Given the description of an element on the screen output the (x, y) to click on. 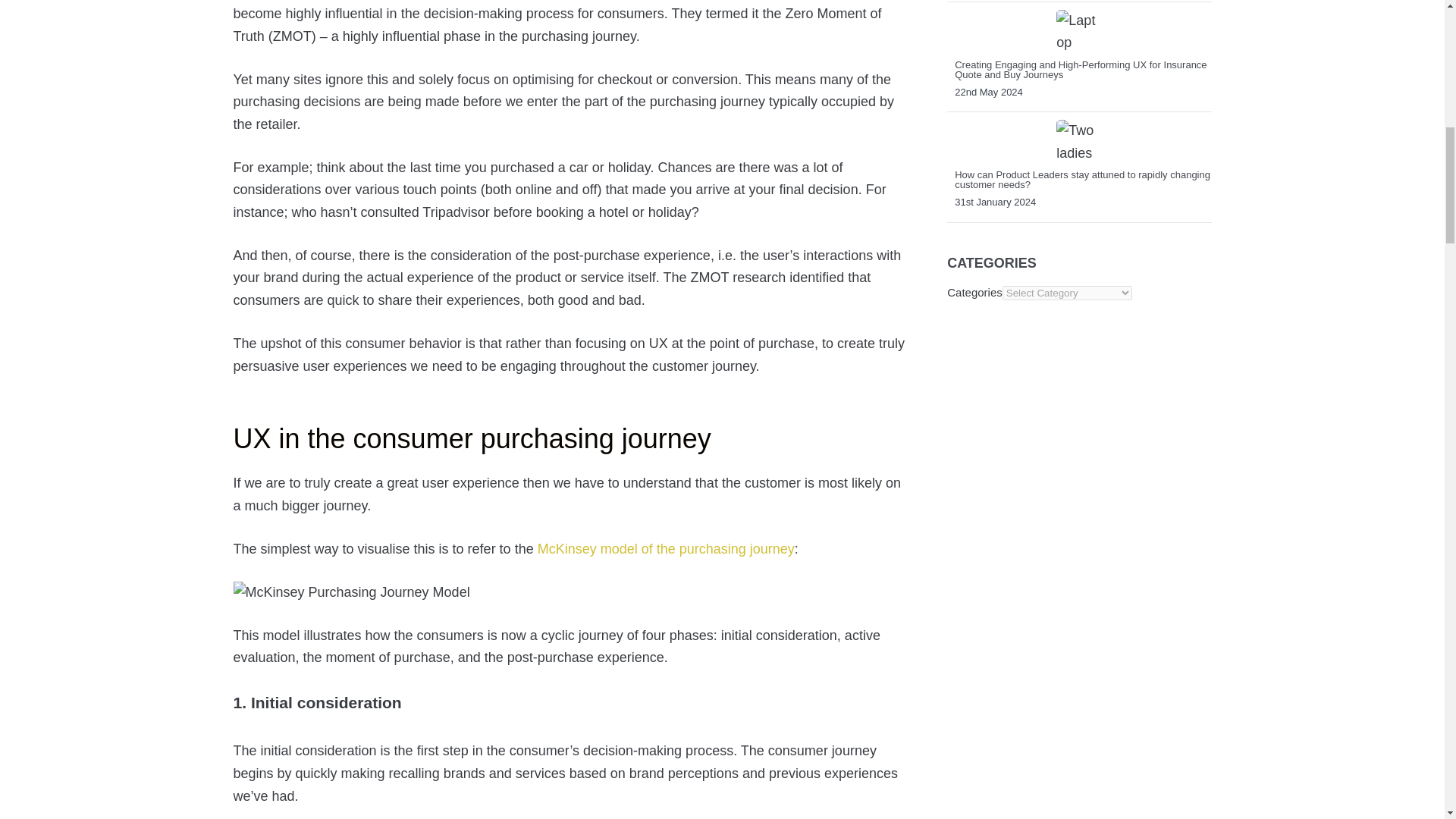
Understanding UX in the purchasing journey 4 (351, 592)
